Given the description of an element on the screen output the (x, y) to click on. 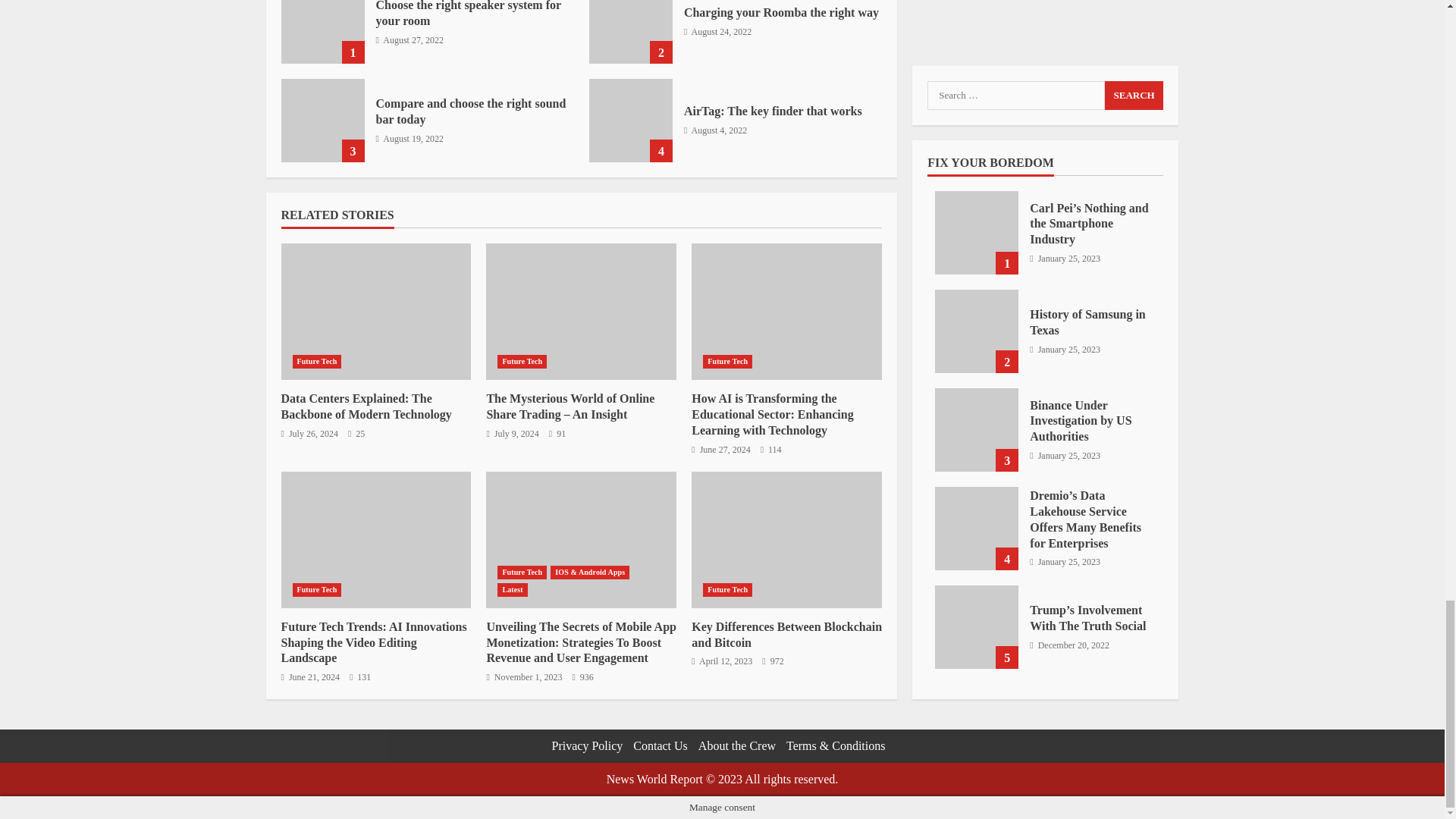
Future Tech (317, 361)
Data Centers Explained: The Backbone of Modern Technology (366, 406)
Data Centers Explained: The Backbone of Modern Technology (375, 311)
Choose the right speaker system for your room (322, 31)
Charging your Roomba the right way (630, 31)
91 (557, 433)
AirTag: The key finder that works (772, 110)
Compare and choose the right sound bar today (322, 120)
Compare and choose the right sound bar today (470, 111)
Charging your Roomba the right way (781, 11)
Future Tech (522, 361)
25 (356, 433)
AirTag: The key finder that works (630, 120)
Choose the right speaker system for your room (467, 13)
